Given the description of an element on the screen output the (x, y) to click on. 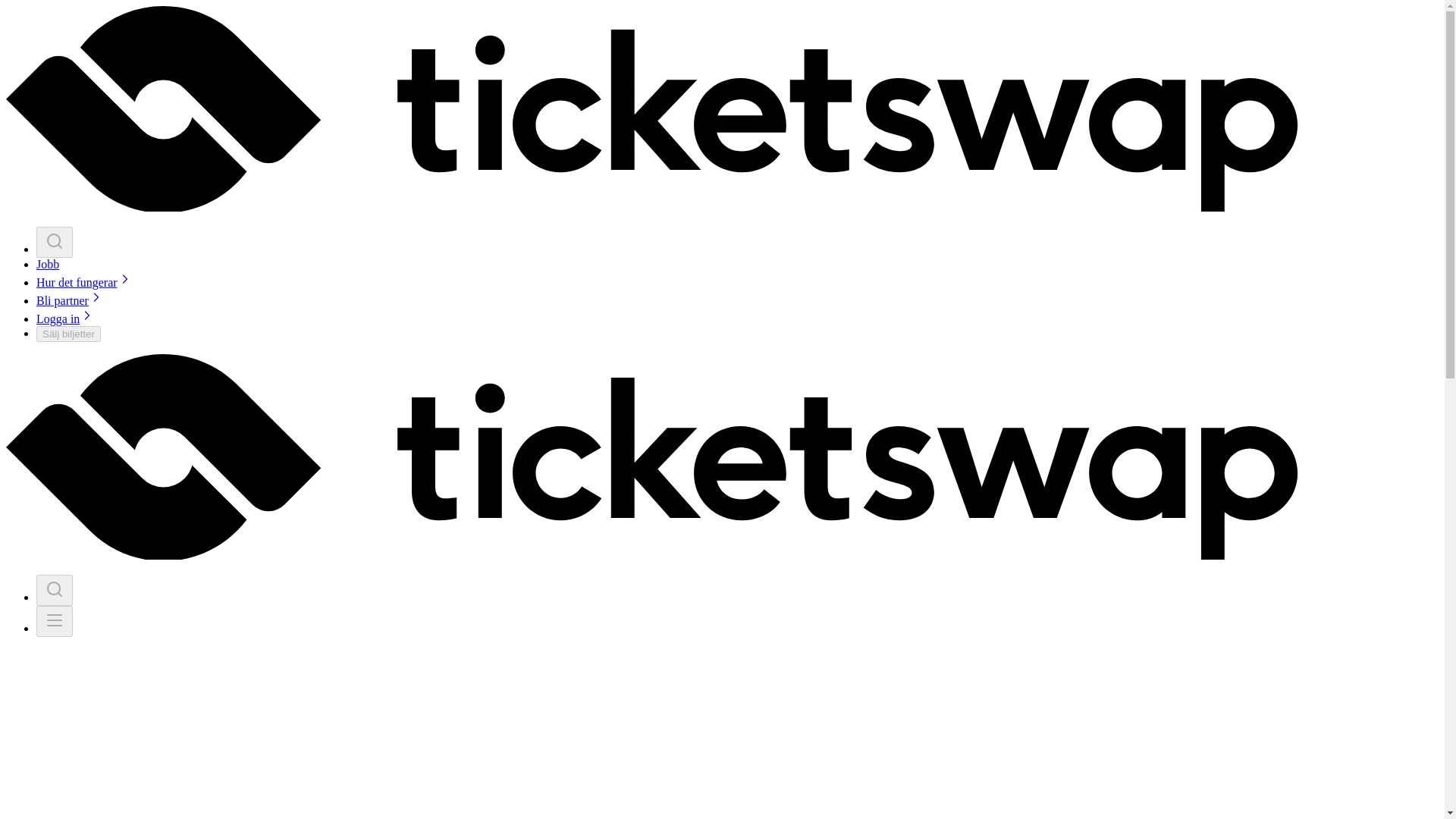
Hur det fungerar (84, 282)
Bli partner (69, 300)
Logga in (65, 318)
Jobb (47, 264)
